Given the description of an element on the screen output the (x, y) to click on. 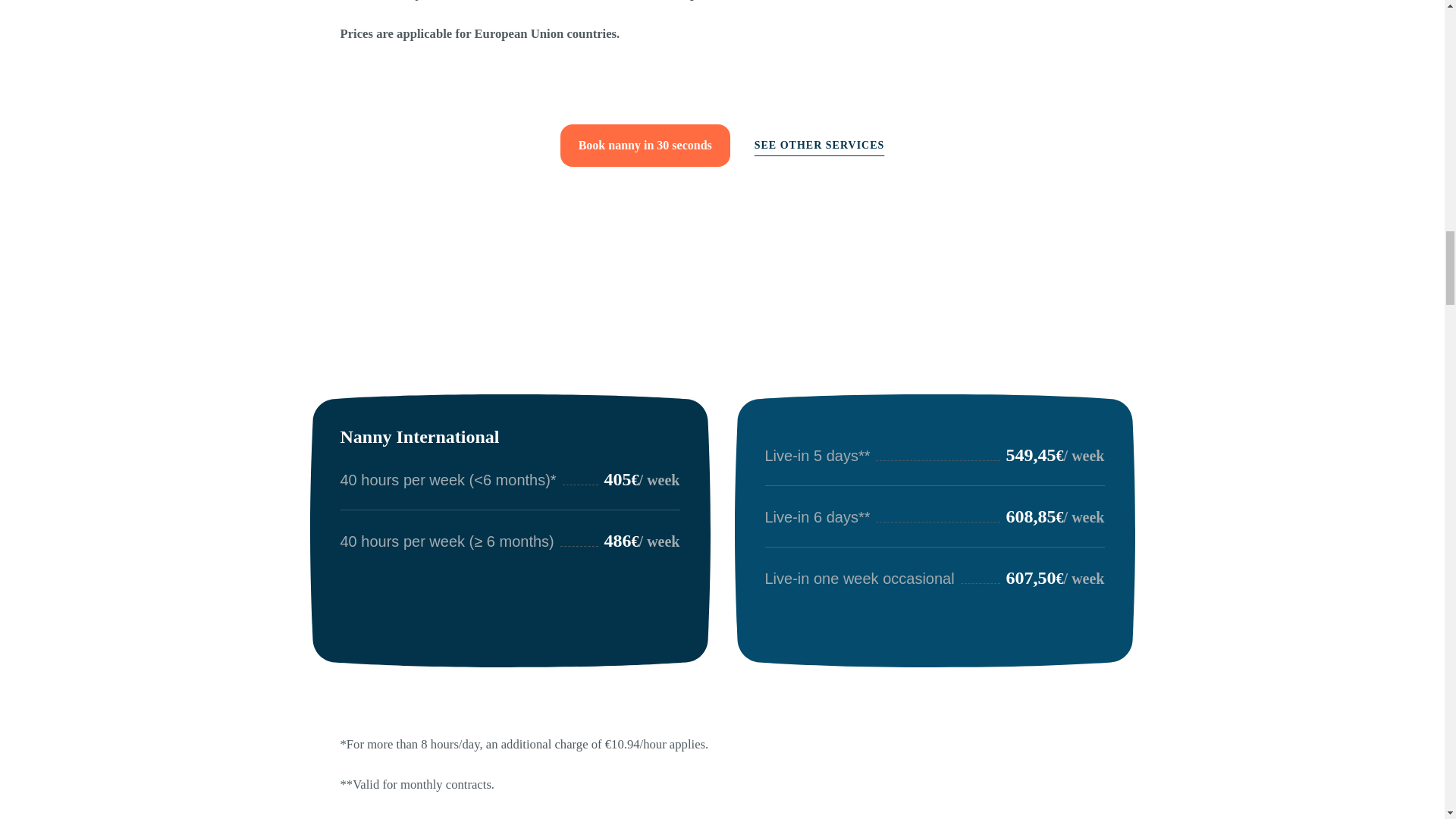
Book nanny in 30 seconds (645, 145)
SEE OTHER SERVICES (819, 145)
